Given the description of an element on the screen output the (x, y) to click on. 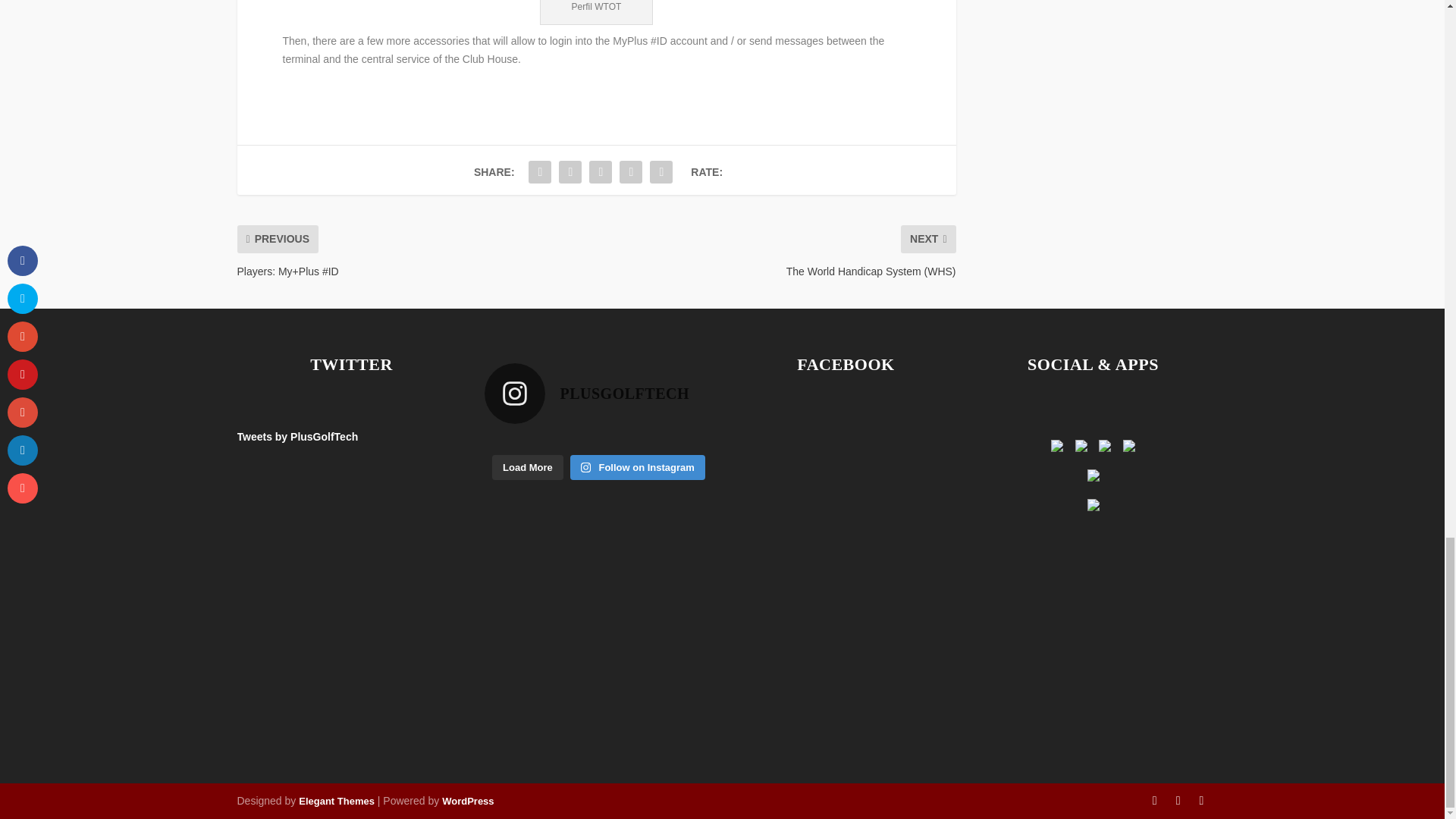
Tweets by PlusGolfTech (296, 436)
PLUSGOLFTECH (598, 393)
Load More (527, 467)
Follow on Instagram (637, 467)
Premium WordPress Themes (336, 800)
